Given the description of an element on the screen output the (x, y) to click on. 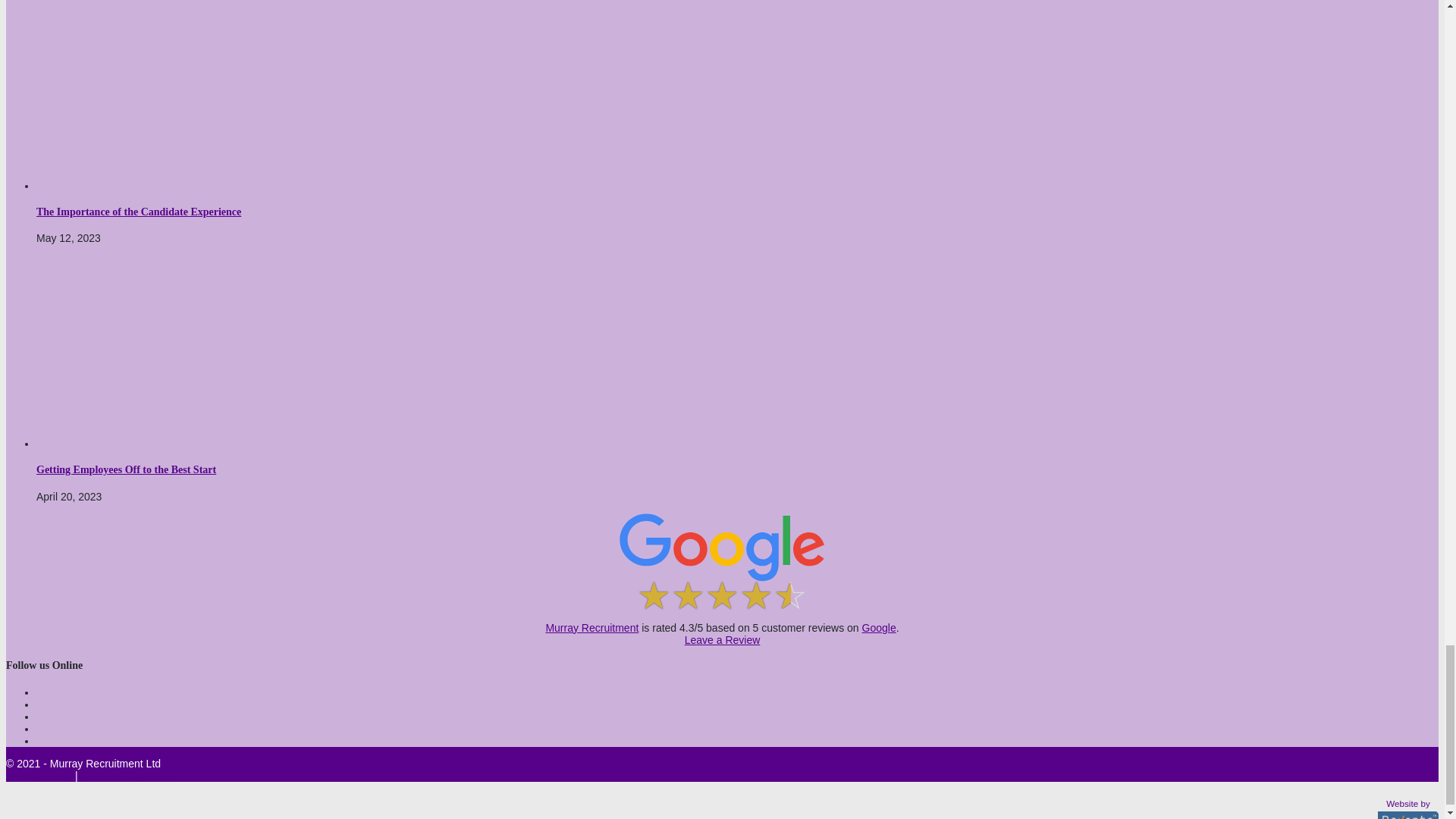
Getting Employees Off to the Best Start (168, 443)
The Importance of the Candidate Experience (138, 211)
Getting Employees Off to the Best Start (125, 469)
View our full reviews on Google (591, 627)
The Importance of the Candidate Experience (168, 185)
